Given the description of an element on the screen output the (x, y) to click on. 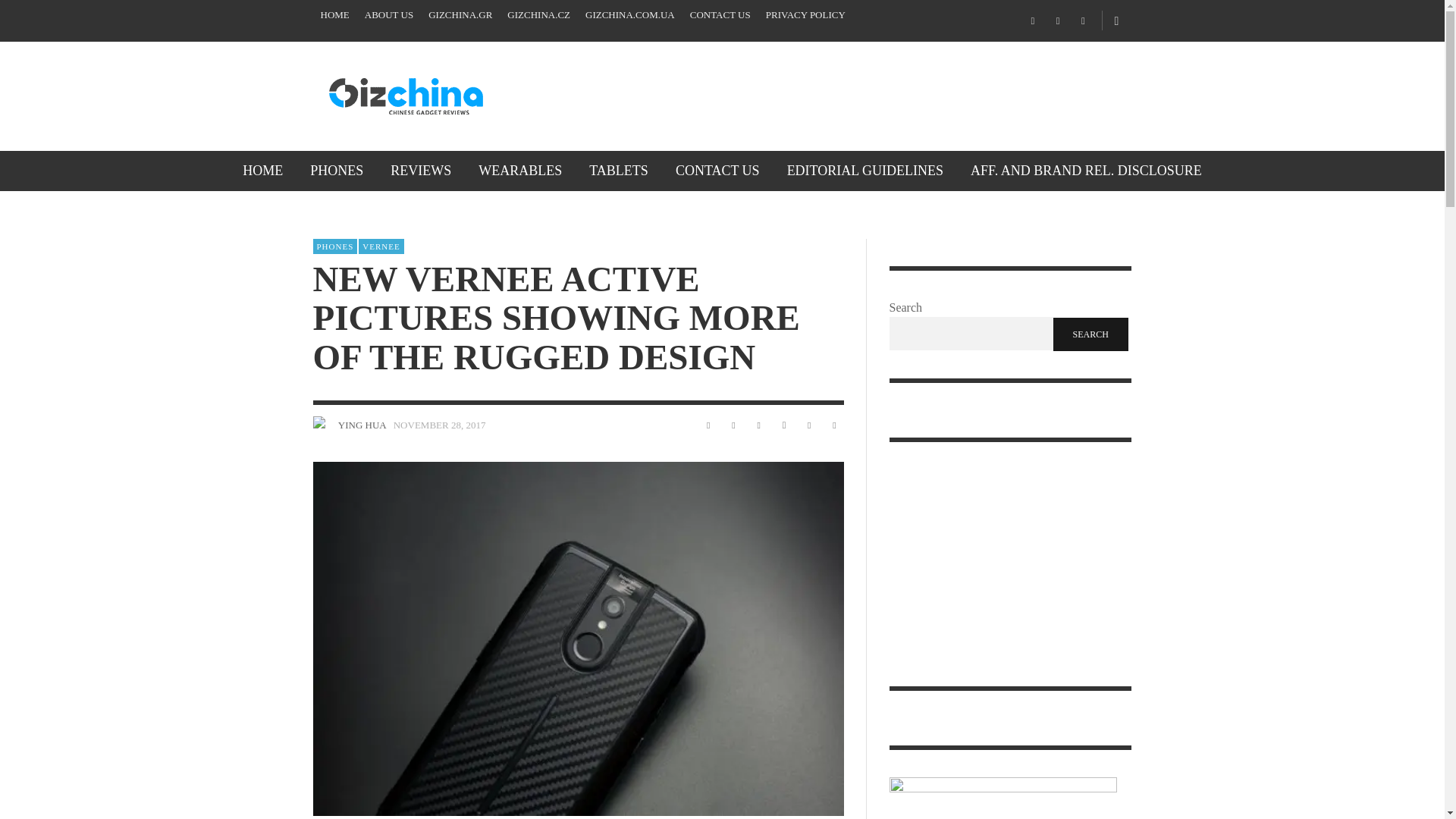
GIZCHINA.CZ (538, 15)
REVIEWS (420, 170)
PRIVACY POLICY (805, 15)
PHONES (337, 170)
HOME (334, 15)
ABOUT US (388, 15)
GIZCHINA.GR (459, 15)
GIZCHINA.COM.UA (630, 15)
HOME (262, 170)
CONTACT US (720, 15)
